Given the description of an element on the screen output the (x, y) to click on. 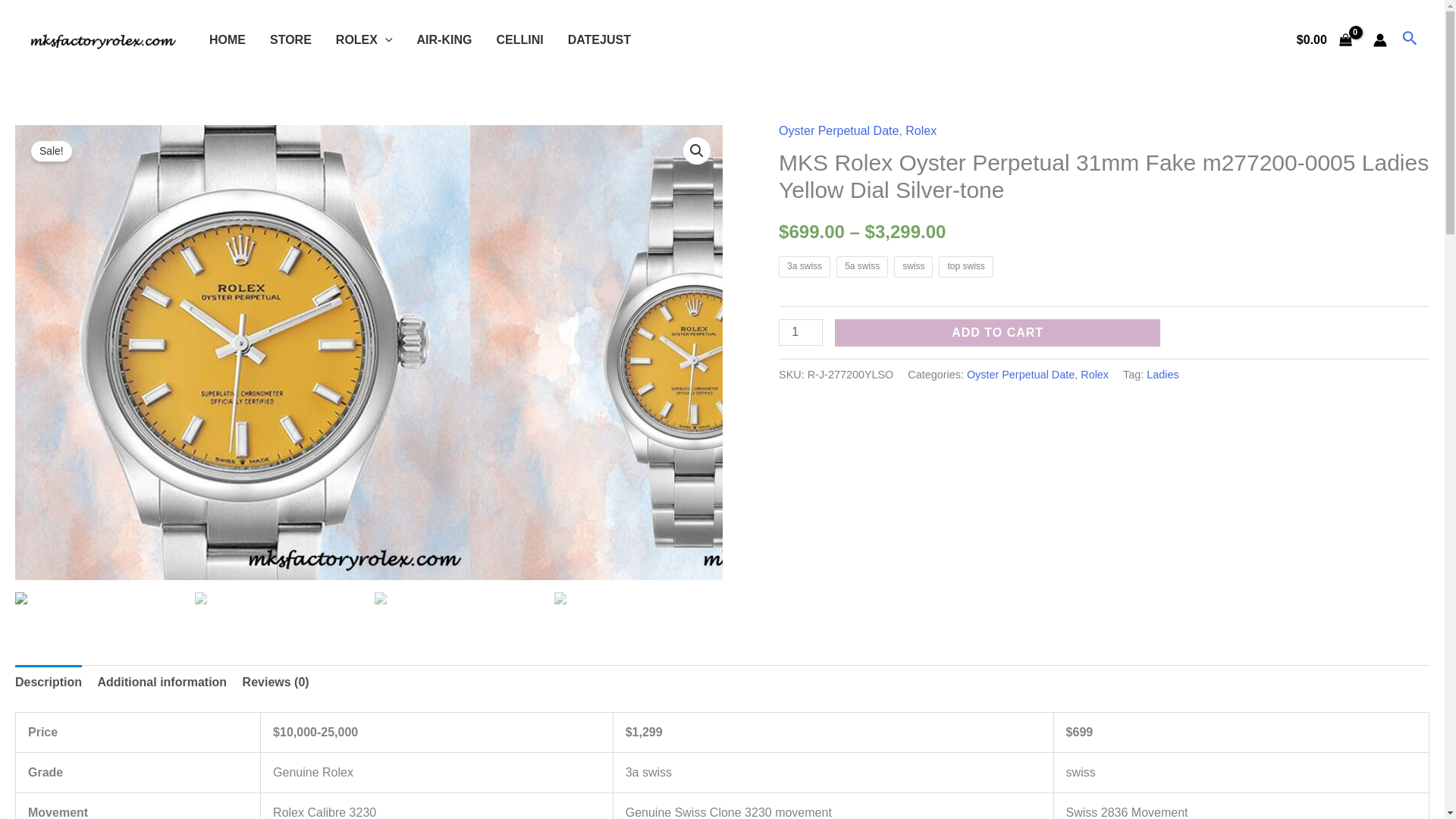
STORE (290, 39)
CELLINI (518, 39)
HOME (226, 39)
ROLEX (363, 39)
ADD TO CART (997, 332)
DATEJUST (599, 39)
Rolex (920, 130)
1 (800, 332)
